Given the description of an element on the screen output the (x, y) to click on. 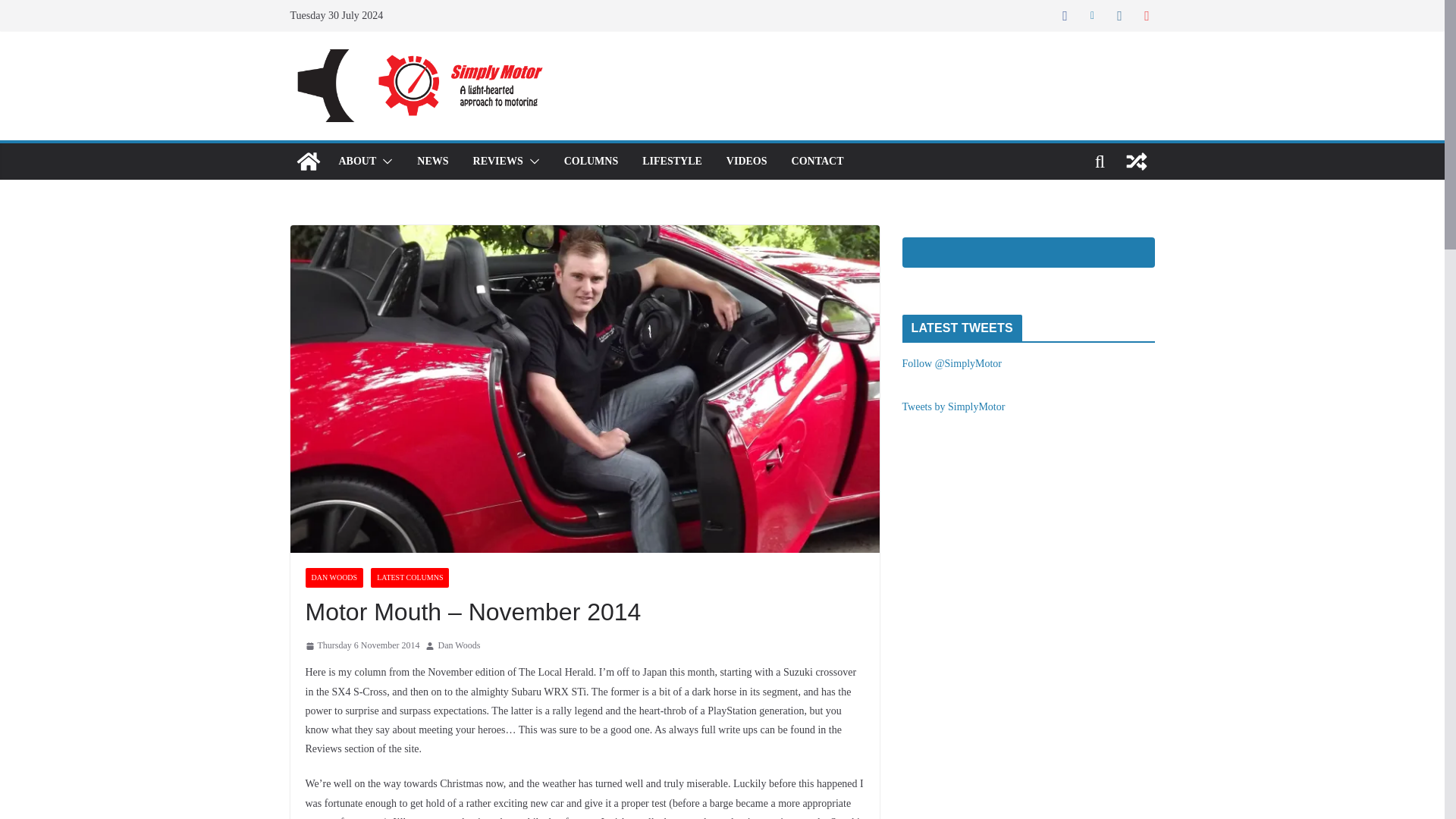
View a random post (1136, 161)
ABOUT (356, 160)
08:00 (361, 646)
NEWS (432, 160)
Dan Woods (459, 646)
REVIEWS (497, 160)
Simply Motor (307, 161)
